Given the description of an element on the screen output the (x, y) to click on. 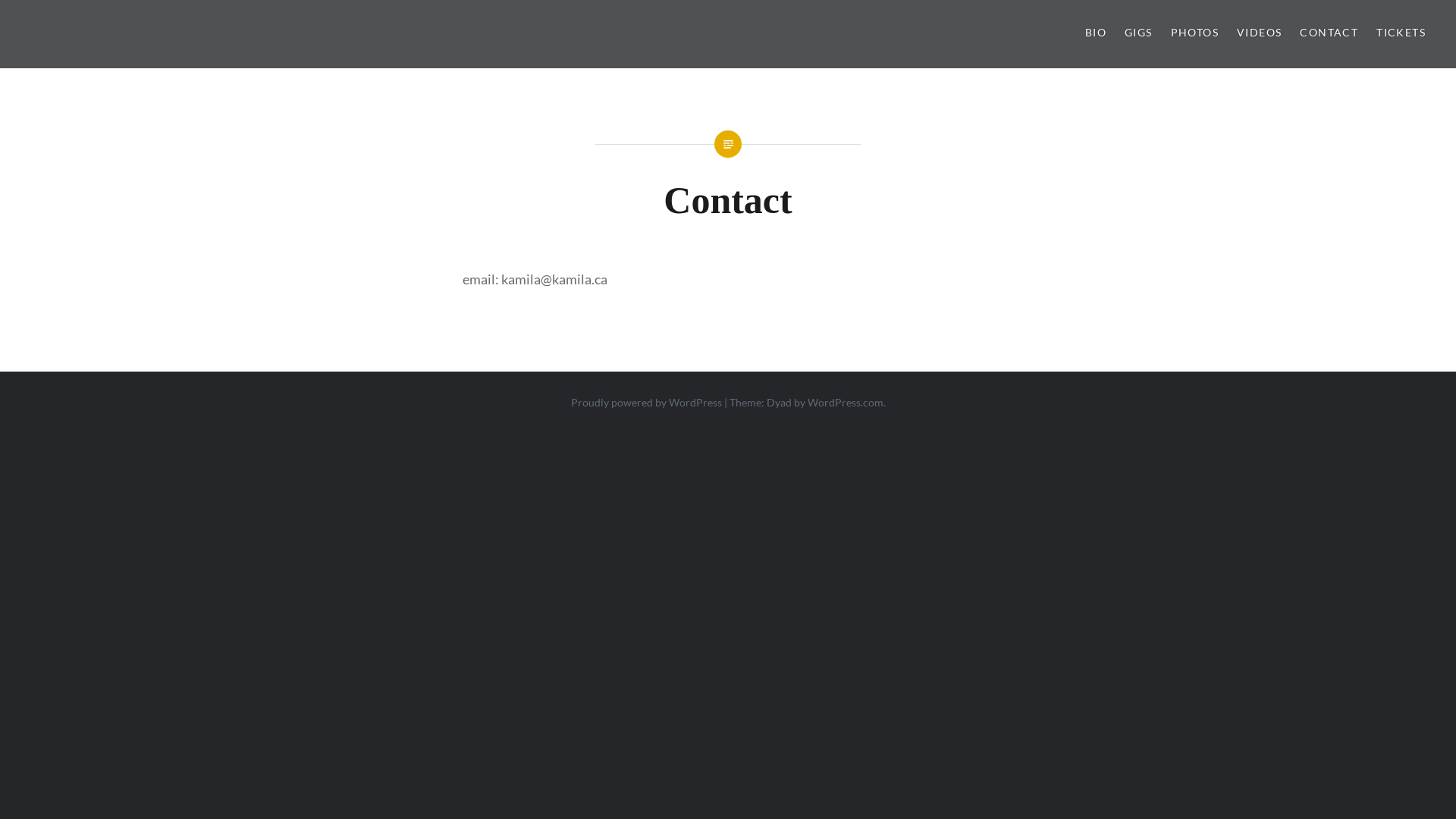
VIDEOS Element type: text (1258, 32)
PHOTOS Element type: text (1194, 32)
TICKETS Element type: text (1400, 32)
CONTACT Element type: text (1328, 32)
BIO Element type: text (1095, 32)
Proudly powered by WordPress Element type: text (645, 401)
WordPress.com Element type: text (844, 401)
GIGS Element type: text (1138, 32)
